Given the description of an element on the screen output the (x, y) to click on. 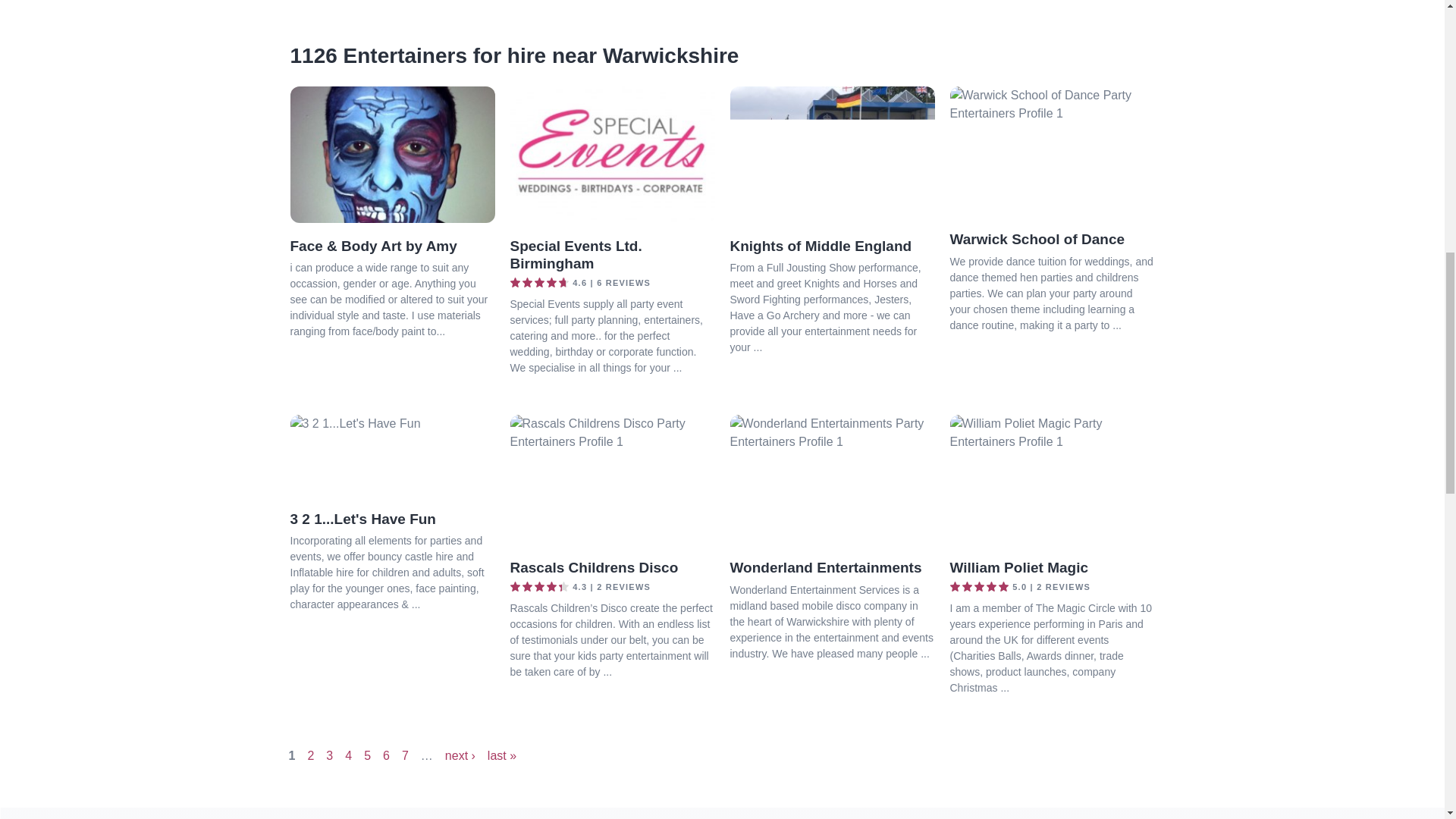
William Poliet Magic (1018, 567)
Warwick School of Dance (1036, 238)
3 2 1...Let's Have Fun (362, 519)
Rascals Childrens Disco (593, 567)
Knights of Middle England (820, 245)
Wonderland Entertainments (825, 567)
Go to last page (501, 755)
Special Events Ltd. Birmingham (575, 254)
Go to next page (460, 755)
